Given the description of an element on the screen output the (x, y) to click on. 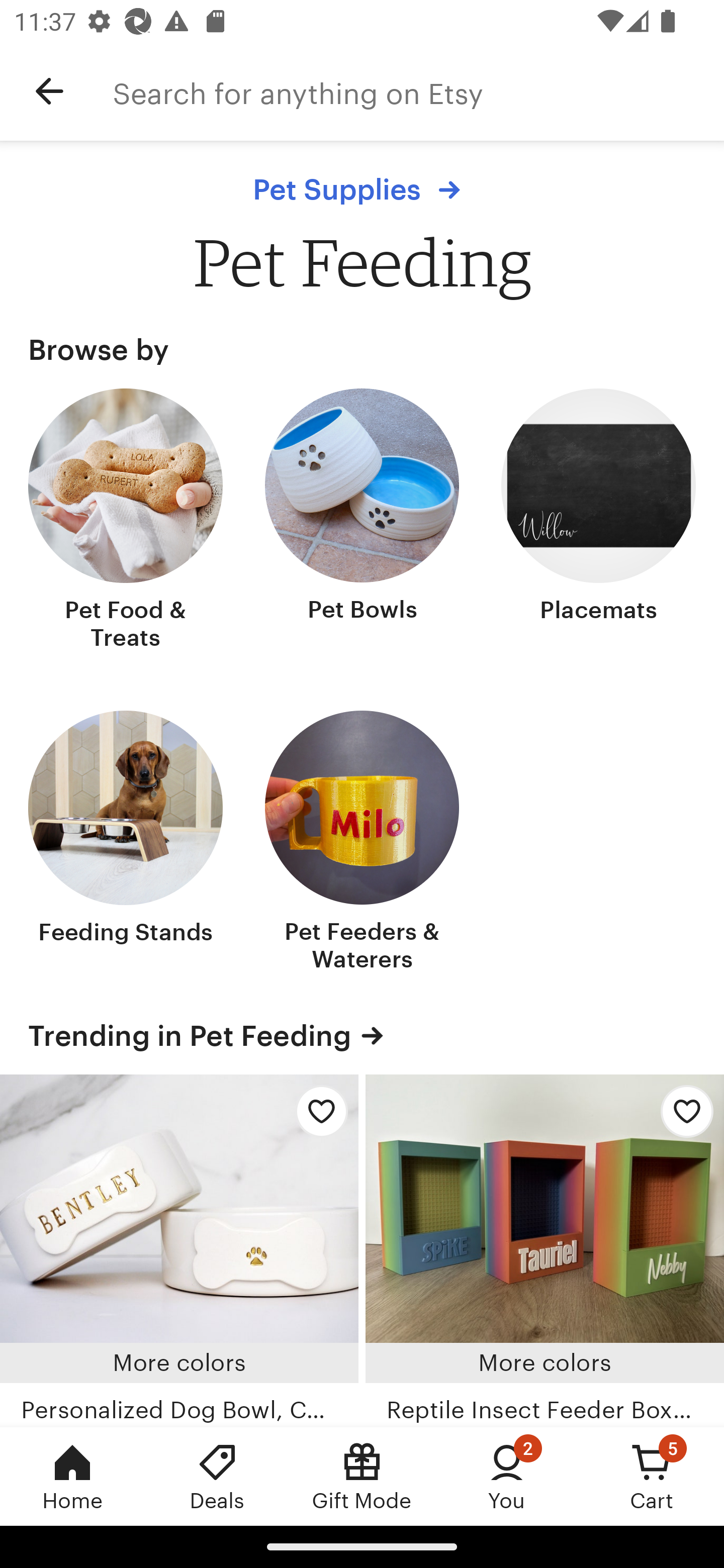
Navigate up (49, 91)
Search for anything on Etsy (418, 91)
Pet Supplies (361, 189)
Pet Food & Treats (125, 520)
Pet Bowls (361, 520)
Placemats (598, 520)
Feeding Stands (125, 842)
Pet Feeders & Waterers (361, 842)
Trending in Pet Feeding  (361, 1035)
Deals (216, 1475)
Gift Mode (361, 1475)
You, 2 new notifications You (506, 1475)
Cart, 5 new notifications Cart (651, 1475)
